Given the description of an element on the screen output the (x, y) to click on. 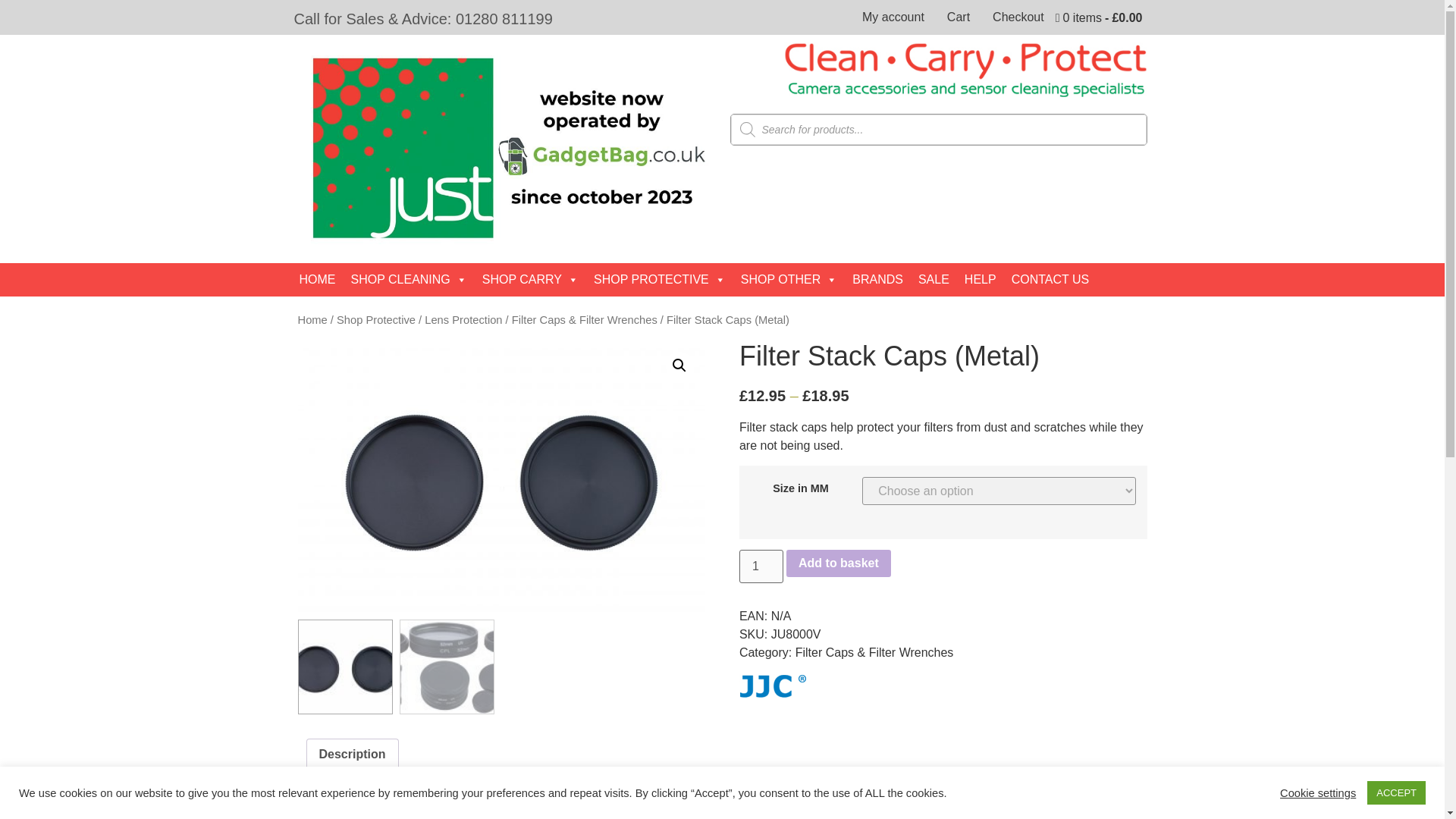
Checkout (1018, 17)
Start shopping (1098, 17)
ju8000v (500, 474)
My account (893, 17)
SHOP CARRY (530, 279)
Cart (958, 17)
JJC (772, 688)
HOME (316, 279)
SHOP CLEANING (408, 279)
1 (761, 566)
SHOP PROTECTIVE (659, 279)
